Given the description of an element on the screen output the (x, y) to click on. 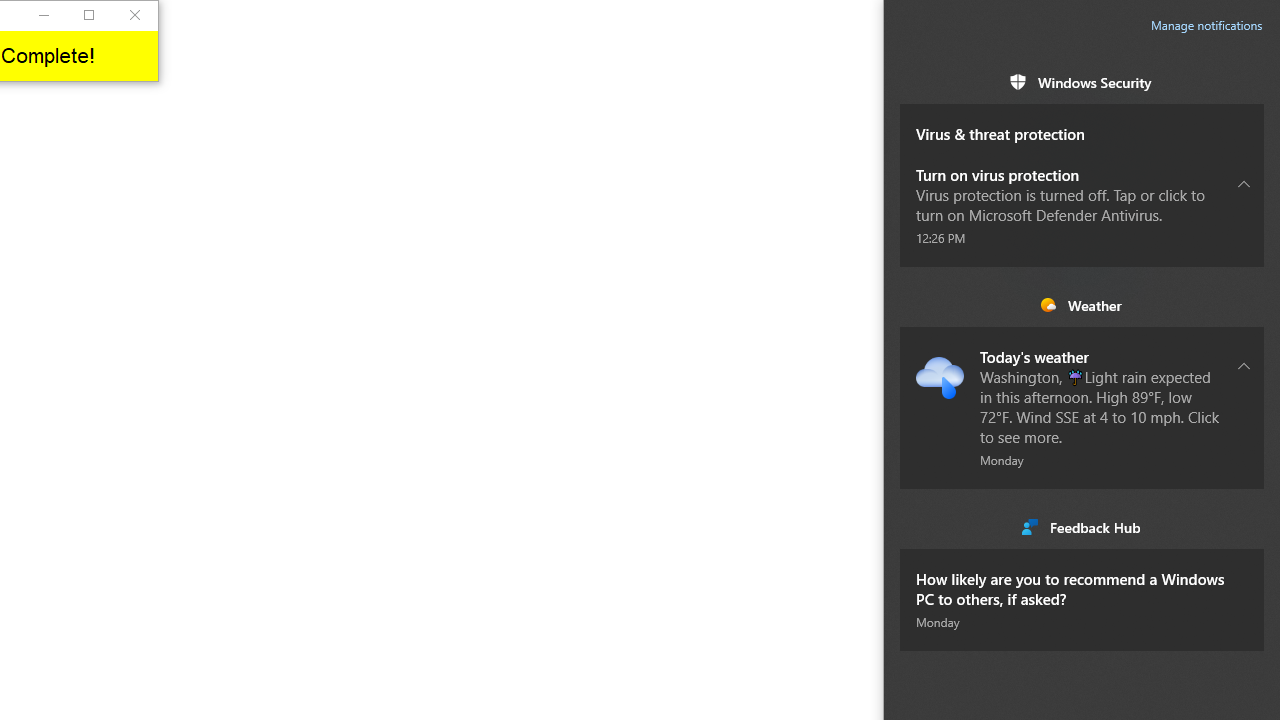
Clear all notifications for Windows Security (1244, 82)
Clear all notifications for Virus & threat protection (1244, 123)
Clear all notifications for Feedback Hub (1244, 526)
Virus & threat protection. . Received on . Subgroup. (1081, 123)
Clear all notifications for Weather (1244, 305)
Collapse this notification (1244, 365)
Clear this notification (1244, 568)
Settings for this notification (1244, 588)
Manage notifications (1206, 25)
